Given the description of an element on the screen output the (x, y) to click on. 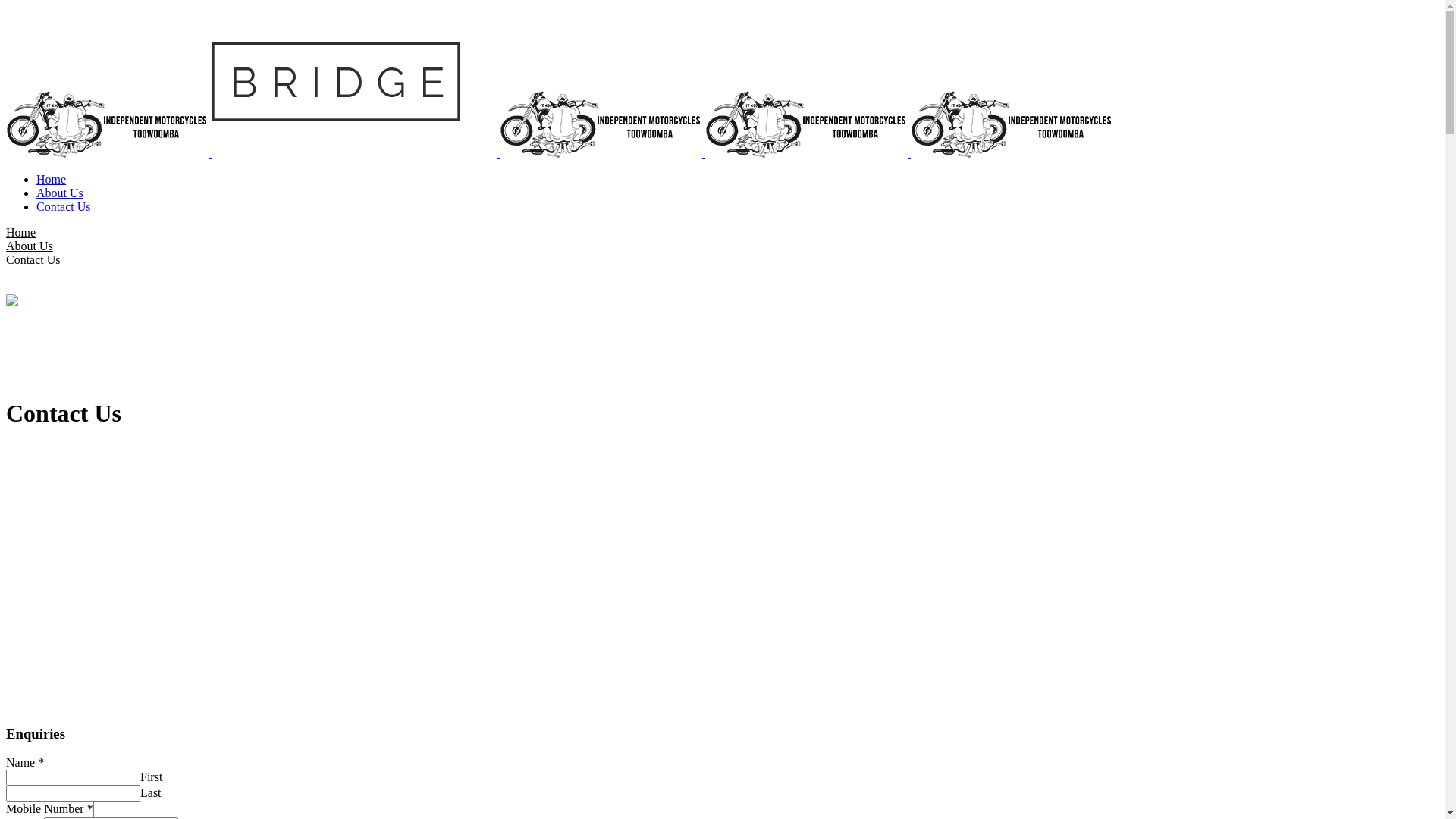
About Us Element type: text (29, 245)
Contact Us Element type: text (33, 259)
Home Element type: text (20, 231)
Contact Us Element type: text (63, 206)
About Us Element type: text (59, 192)
Home Element type: text (50, 178)
